Given the description of an element on the screen output the (x, y) to click on. 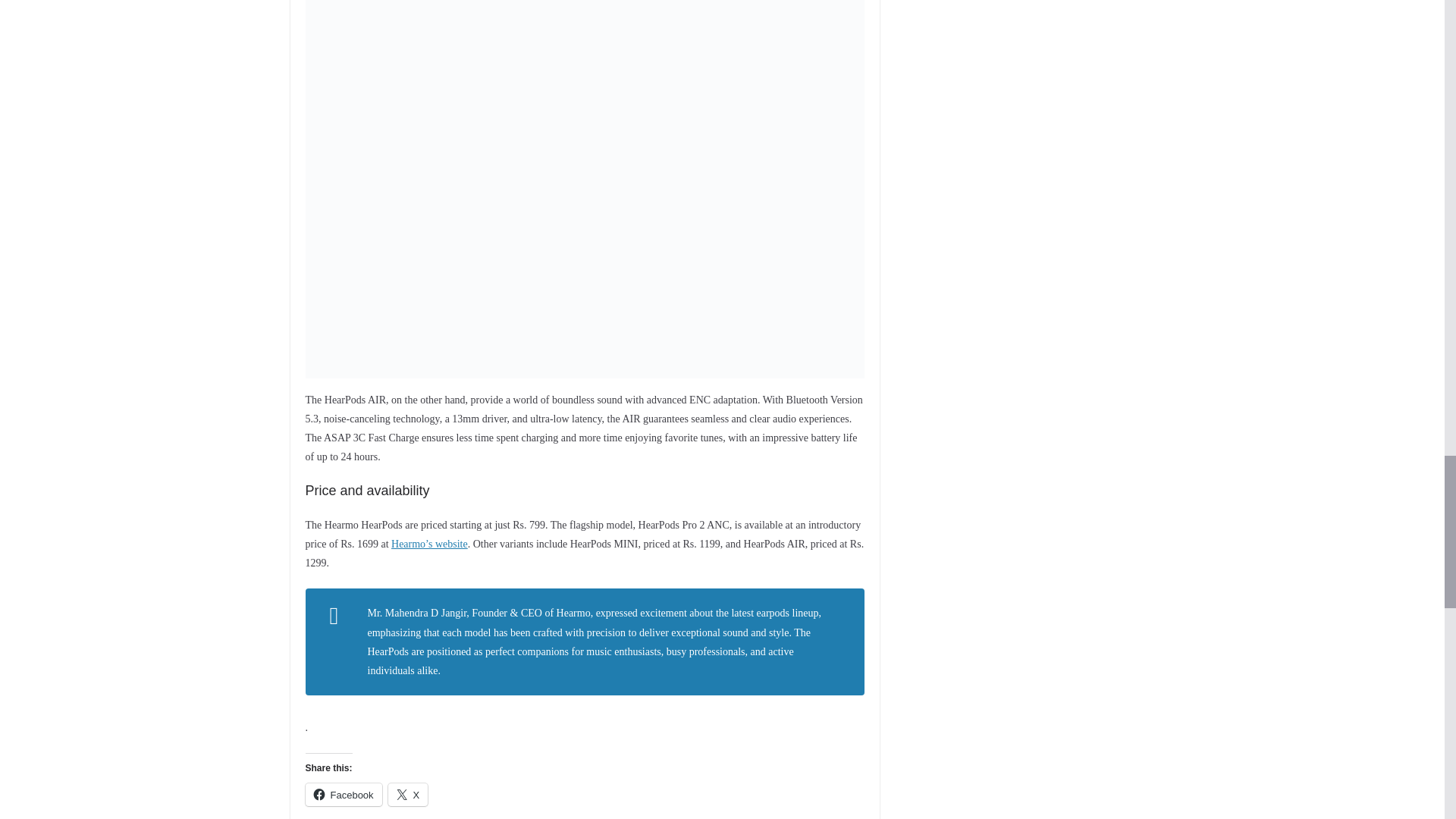
Click to share on X (408, 793)
Click to share on Facebook (342, 793)
Facebook (342, 793)
X (408, 793)
